Given the description of an element on the screen output the (x, y) to click on. 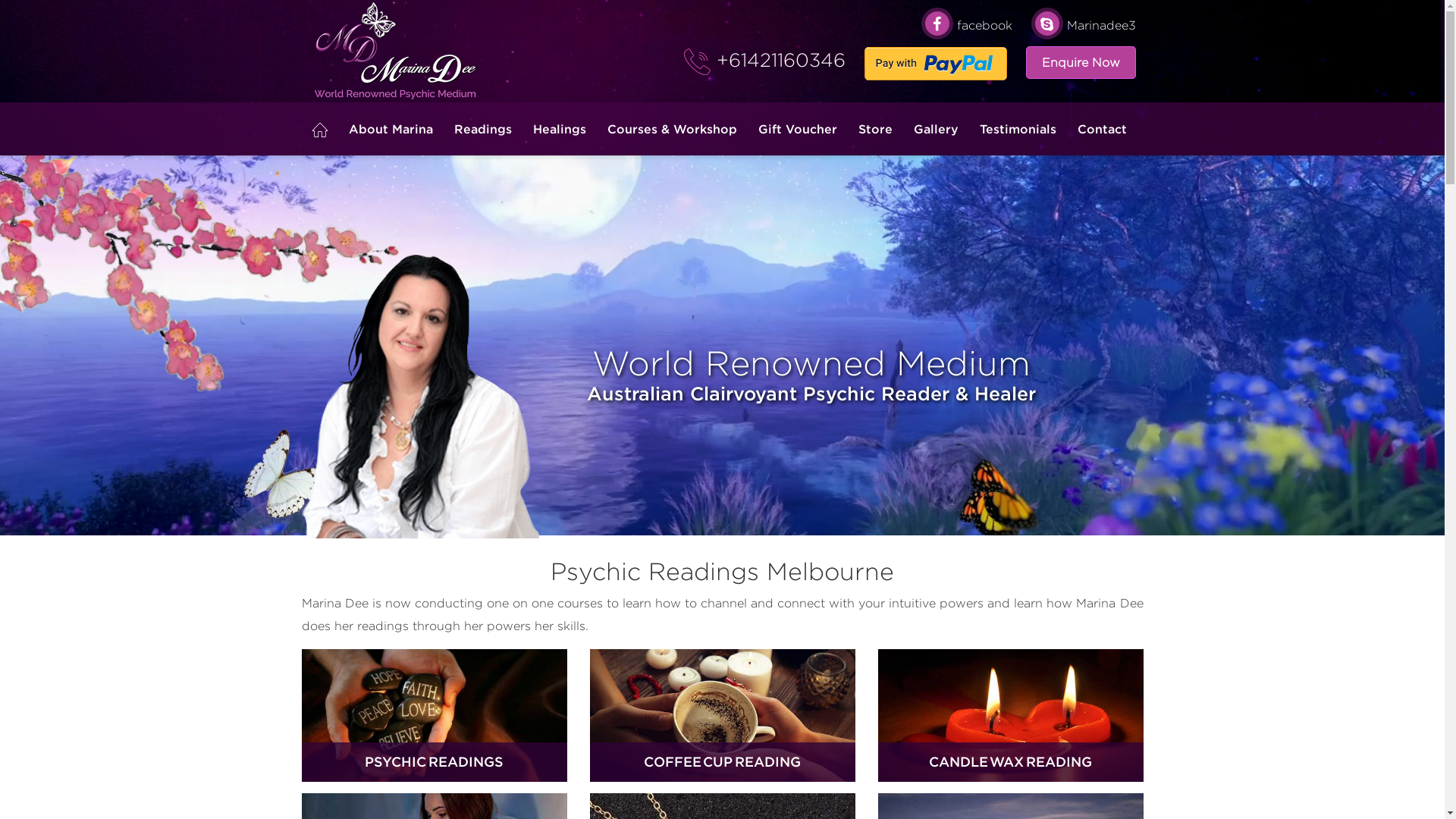
Healings Element type: text (558, 128)
Readings Element type: text (481, 128)
Coffee Cup Reading Element type: hover (722, 715)
facebook Element type: text (965, 24)
CANDLE WAX READING Element type: text (1010, 721)
Gift Voucher Element type: text (797, 128)
Home Element type: hover (319, 129)
Testimonials Element type: text (1017, 128)
About Marina Element type: text (390, 128)
call us Element type: hover (697, 61)
Store Element type: text (875, 128)
Courses & Workshop Element type: text (671, 128)
PSYCHIC READINGS Element type: text (434, 721)
Enquire Now Element type: text (1080, 62)
Contact Element type: text (1099, 128)
Home Element type: hover (319, 128)
Marinadee Element type: hover (420, 395)
Psychic Readings Element type: hover (434, 715)
Marina Dee - Best Australian Clairvoyant Element type: hover (396, 51)
Gallery Element type: text (935, 128)
Marinadee3 Element type: text (1083, 24)
Candle Wax Reading Element type: hover (1010, 715)
+61421160346 Element type: text (776, 59)
Pay with Paypal Element type: hover (935, 63)
COFFEE CUP READING Element type: text (722, 721)
